Given the description of an element on the screen output the (x, y) to click on. 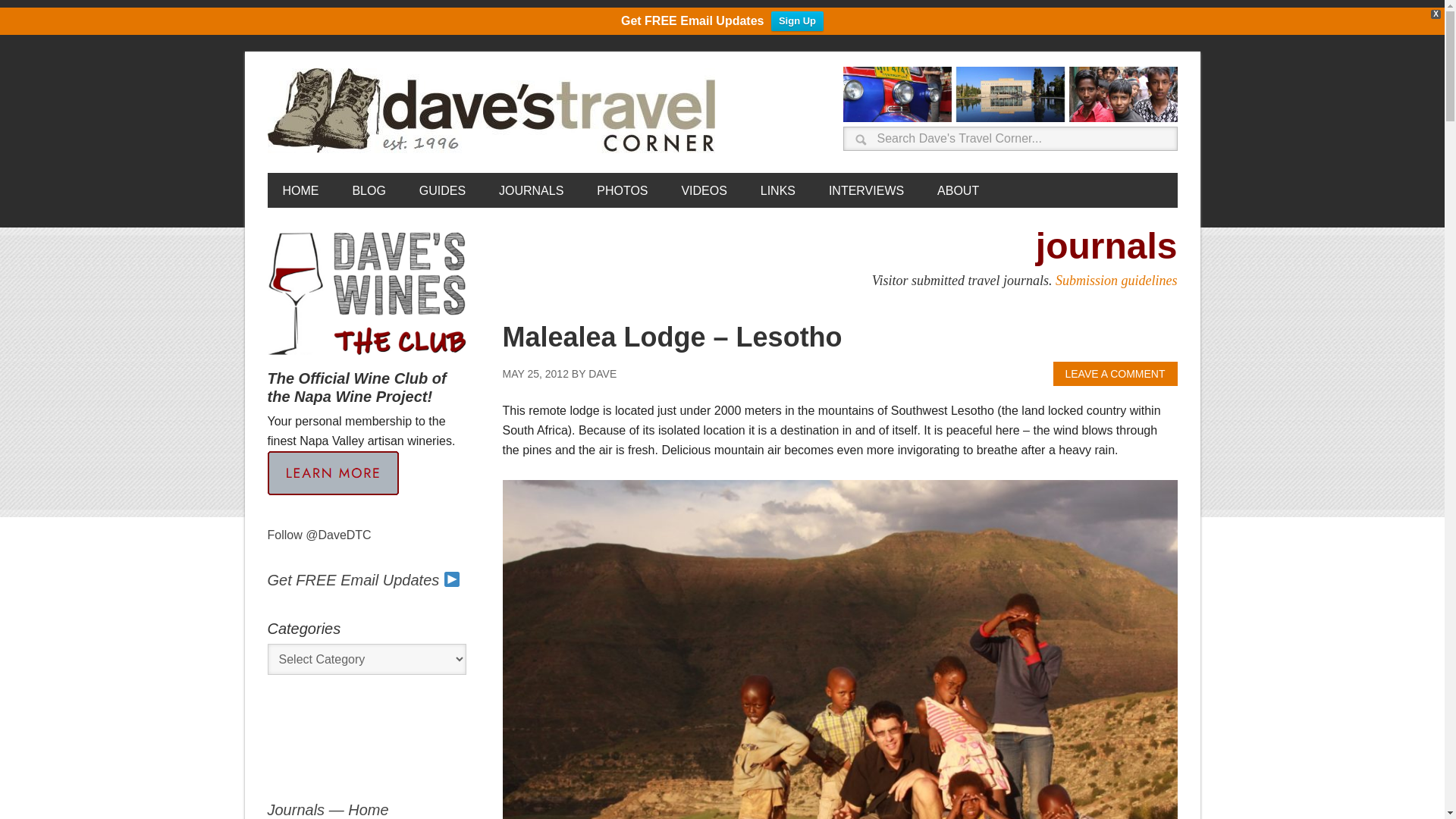
DAVE (601, 373)
GUIDES (442, 190)
Sign Up (797, 21)
DAVE'S TRAVEL CORNER (494, 110)
BLOG (368, 190)
ABOUT (957, 190)
LINKS (777, 190)
PHOTOS (621, 190)
HOME (299, 190)
Submission guidelines (1116, 280)
VIDEOS (703, 190)
LEAVE A COMMENT (1114, 373)
INTERVIEWS (865, 190)
